Given the description of an element on the screen output the (x, y) to click on. 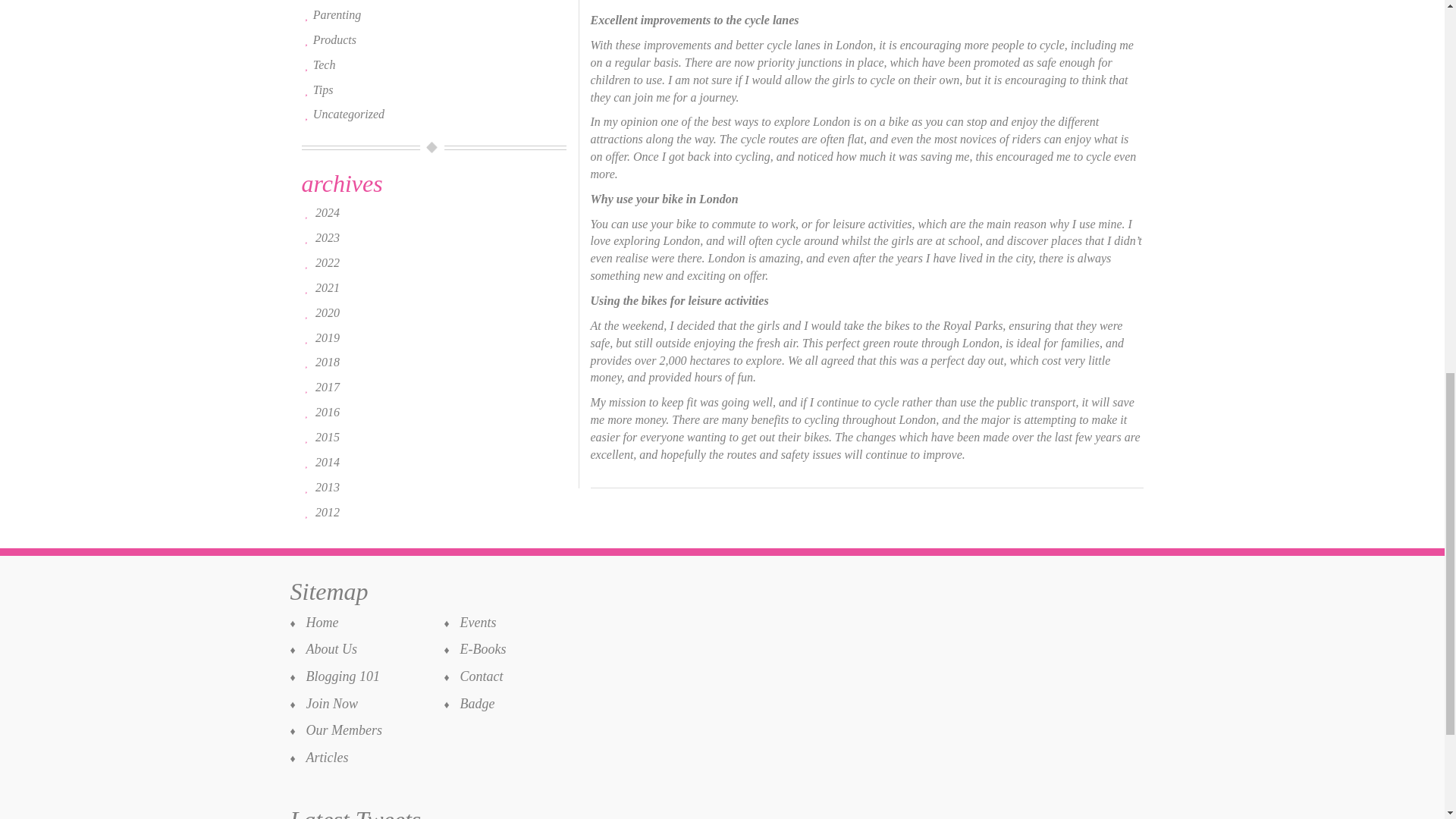
BBC.co.uk (687, 0)
Uncategorized (348, 113)
Products (334, 39)
Tips (323, 89)
Parenting (337, 14)
2024 (327, 212)
Tech (324, 64)
2023 (327, 237)
